Given the description of an element on the screen output the (x, y) to click on. 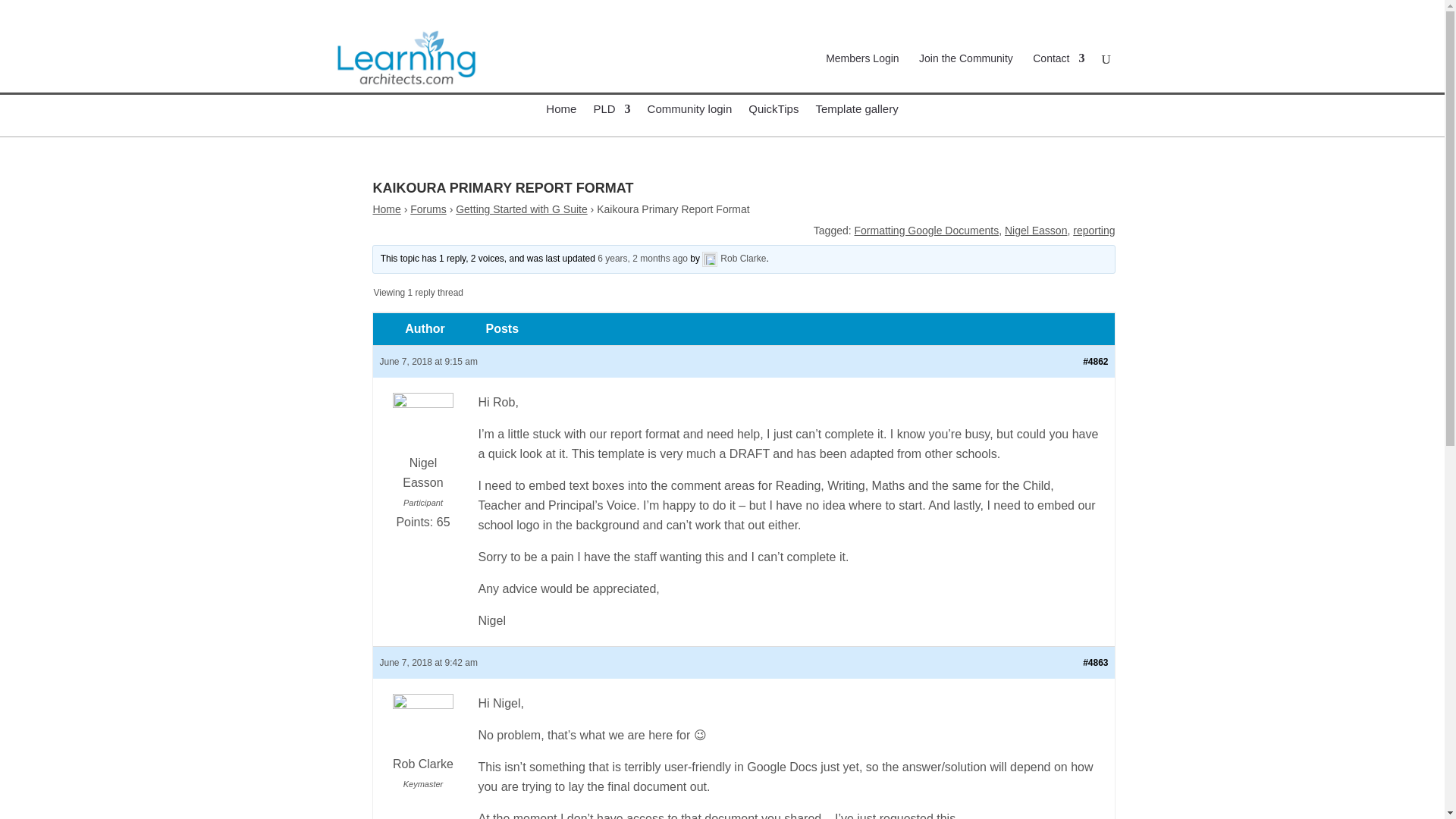
Nigel Easson (421, 445)
Reply To: Kaikoura Primary Report Format (641, 258)
Contact (1058, 72)
PLD (611, 120)
Formatting Google Documents (926, 230)
Home (561, 120)
QuickTips (772, 120)
View Rob Clarke's profile (421, 735)
Join the Community (965, 72)
Nigel Easson (1035, 230)
Rob Clarke (733, 258)
6 years, 2 months ago (641, 258)
Home (386, 209)
View Rob Clarke's profile (733, 258)
Members Login (862, 72)
